Given the description of an element on the screen output the (x, y) to click on. 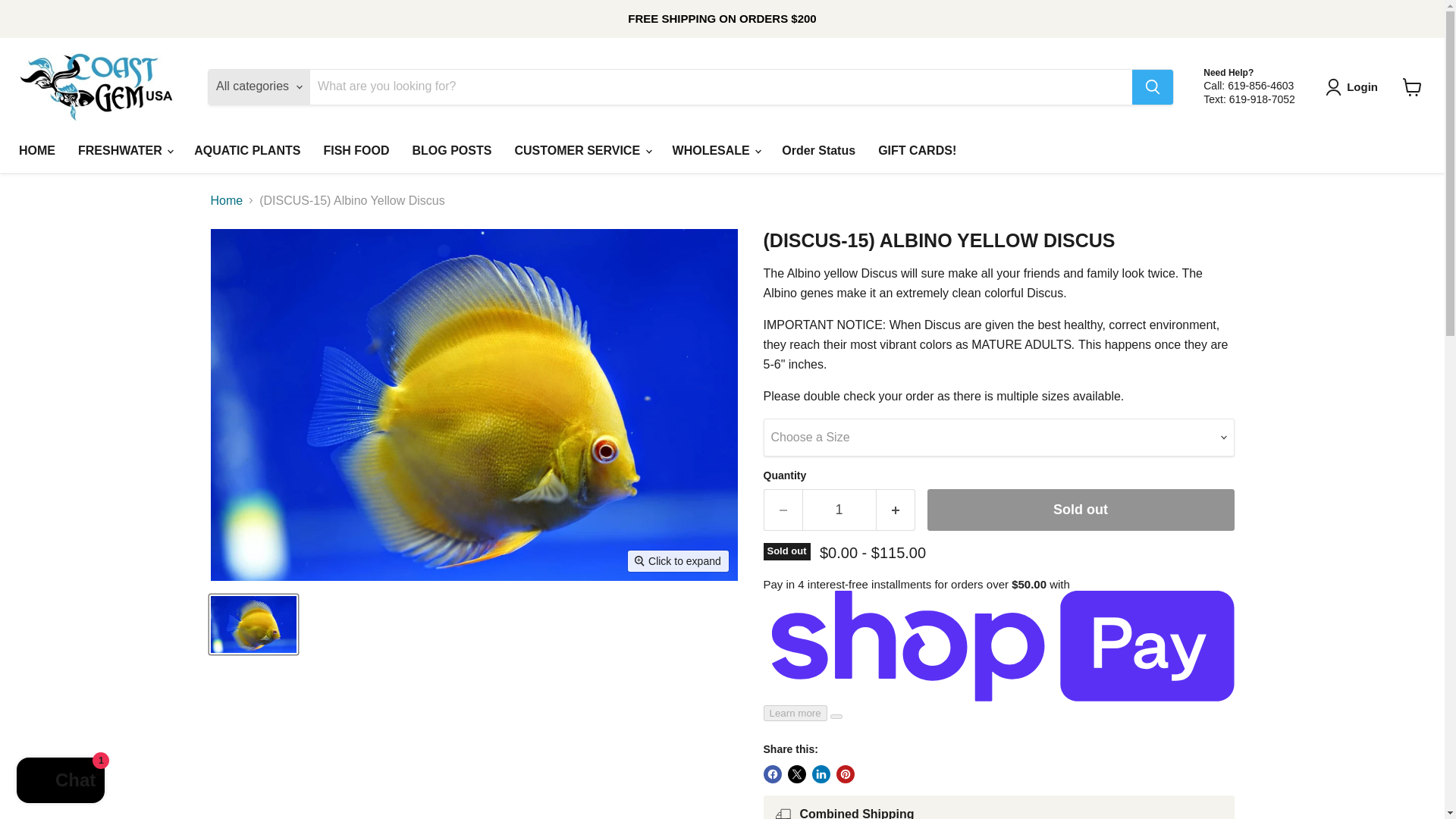
Shopify online store chat (60, 781)
View cart (1411, 86)
HOME (36, 151)
1 (839, 509)
Login (1354, 86)
